Given the description of an element on the screen output the (x, y) to click on. 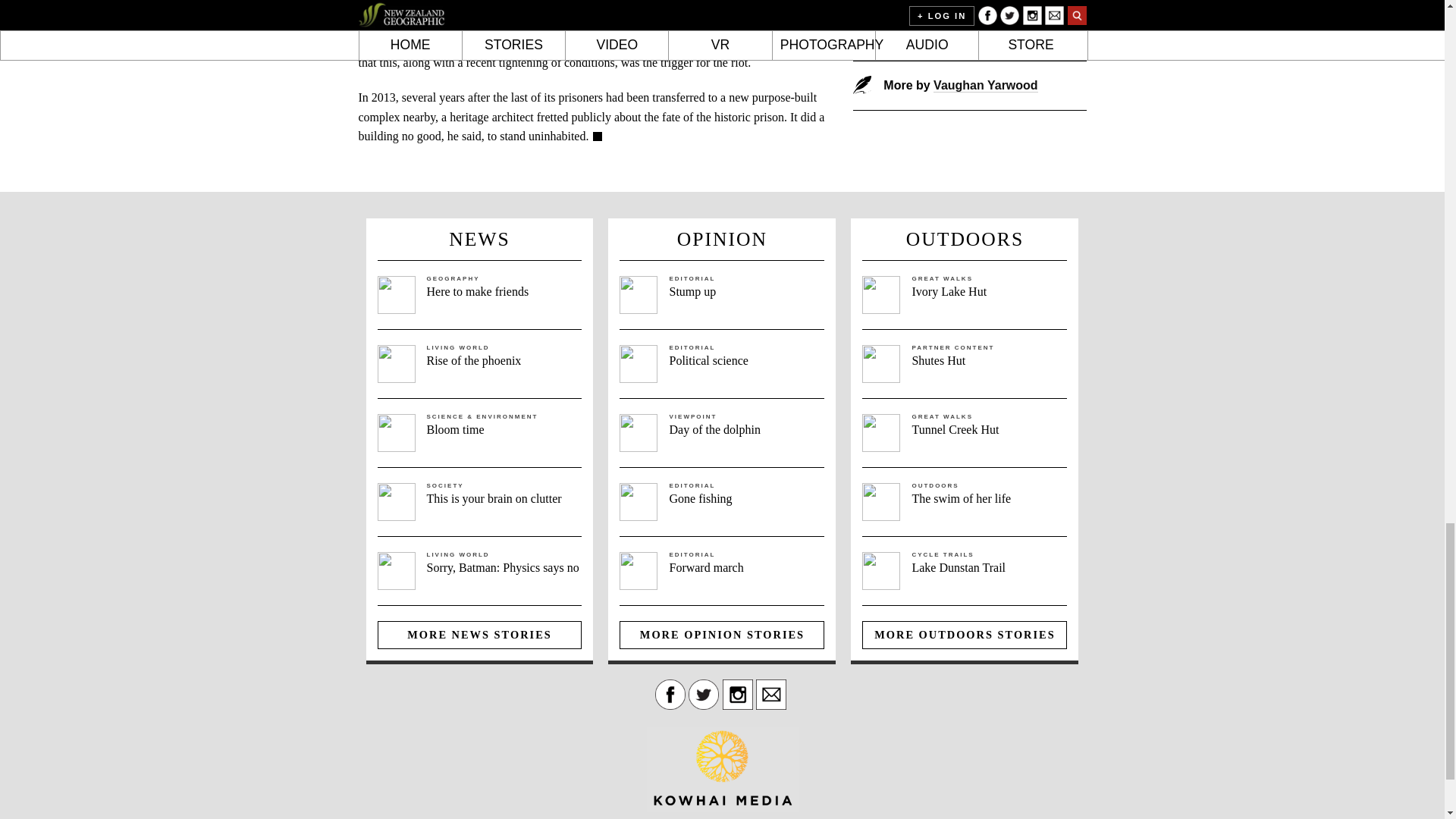
Posts by Vaughan Yarwood (985, 85)
